Given the description of an element on the screen output the (x, y) to click on. 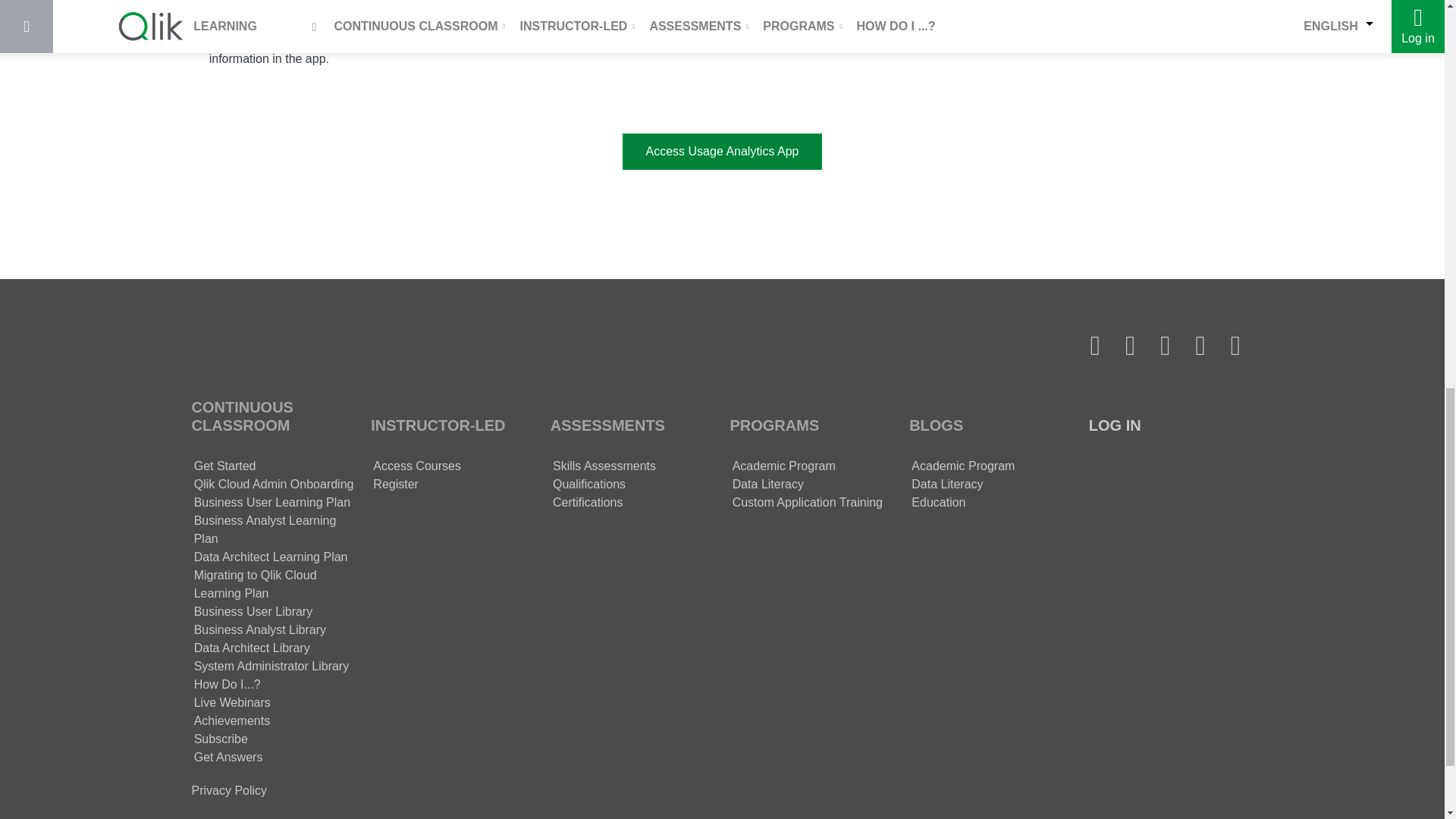
Facebook (1129, 345)
Youtube (1199, 345)
Instagram (1234, 345)
LinkedIn (1165, 345)
Twitter (1094, 345)
